Given the description of an element on the screen output the (x, y) to click on. 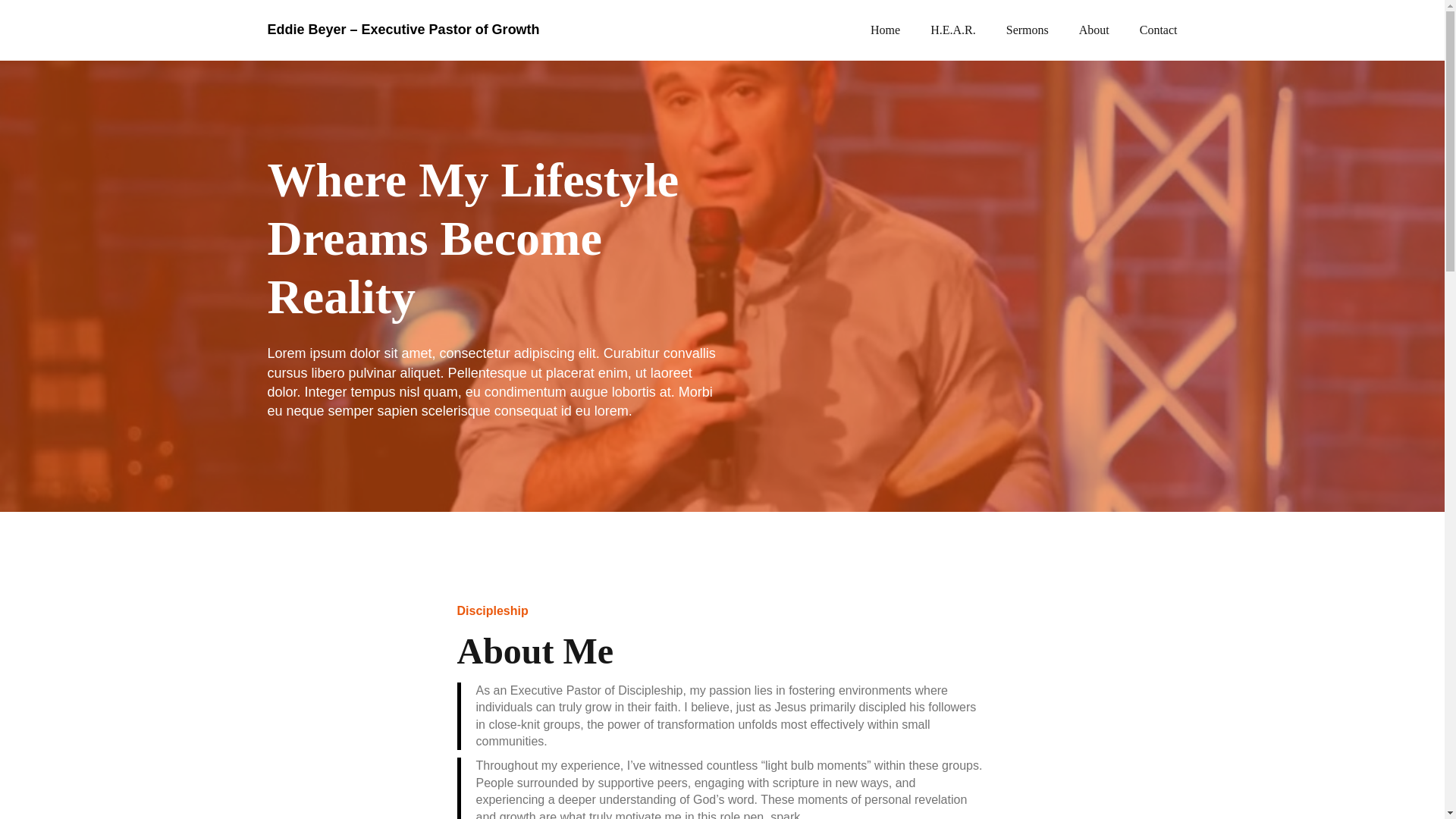
About (1093, 29)
Sermons (1027, 29)
Contact (1158, 29)
H.E.A.R. (952, 29)
Home (884, 29)
